Given the description of an element on the screen output the (x, y) to click on. 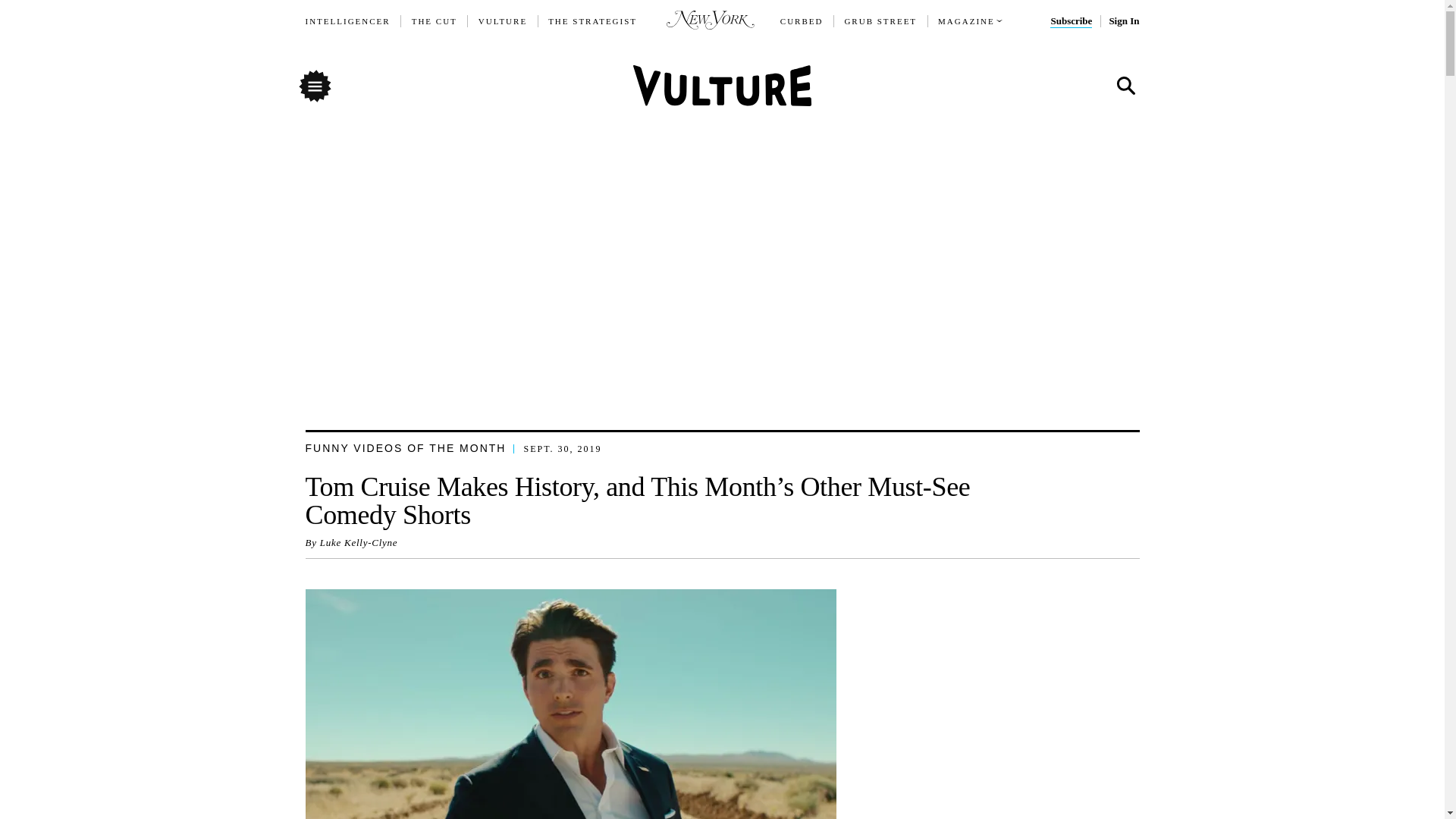
INTELLIGENCER (347, 21)
Sign In (1123, 21)
THE STRATEGIST (592, 21)
MAGAZINE (965, 21)
VULTURE (503, 21)
Subscribe (1070, 21)
GRUB STREET (880, 21)
CURBED (802, 21)
THE CUT (434, 21)
Menu (314, 84)
Search (1124, 86)
